Given the description of an element on the screen output the (x, y) to click on. 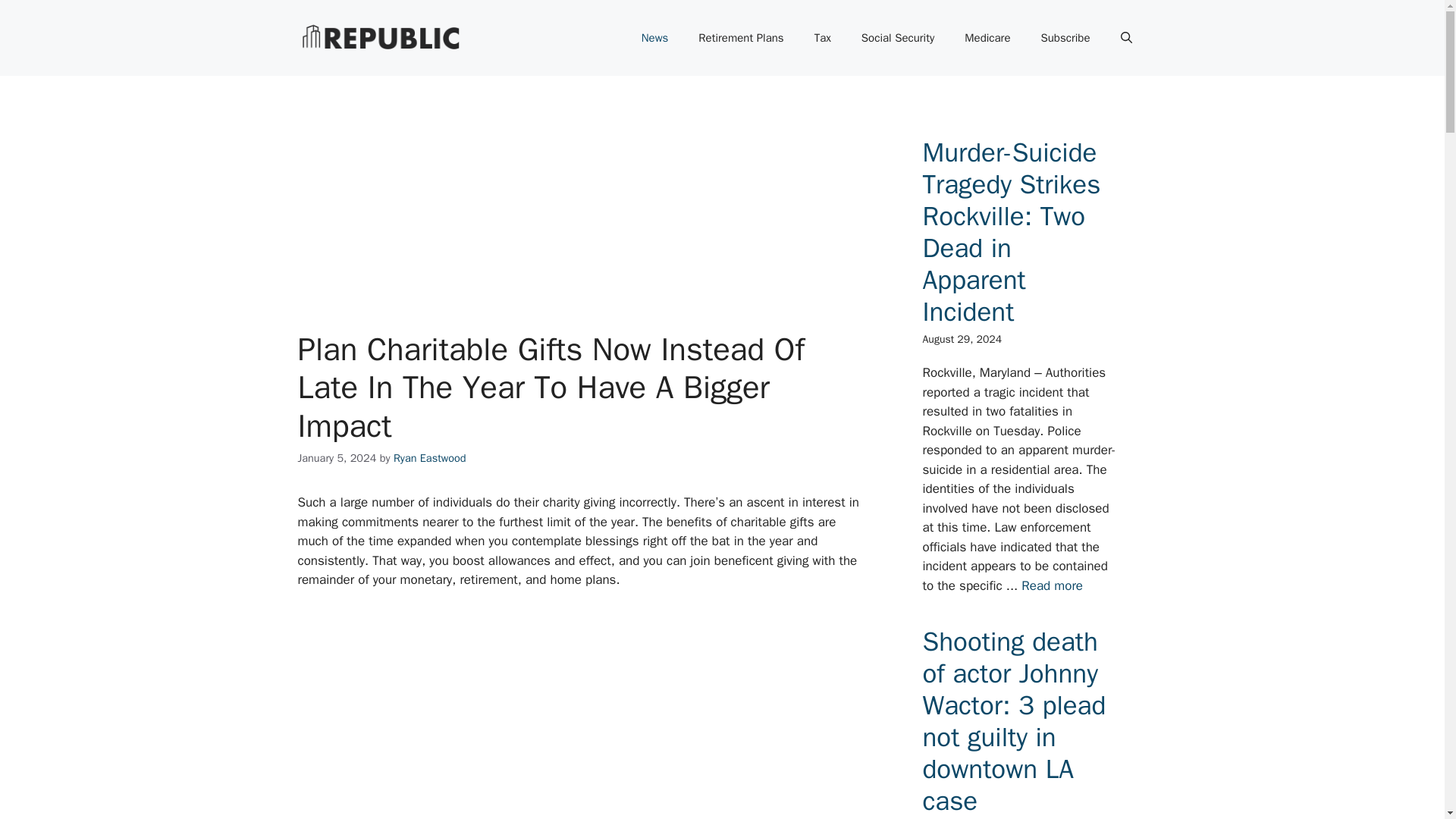
News (655, 37)
Retirement Plans (739, 37)
Subscribe (1065, 37)
Ryan Eastwood (429, 458)
Tax (822, 37)
Advertisement (600, 218)
Advertisement (600, 714)
Social Security (897, 37)
Read more (1052, 585)
